Given the description of an element on the screen output the (x, y) to click on. 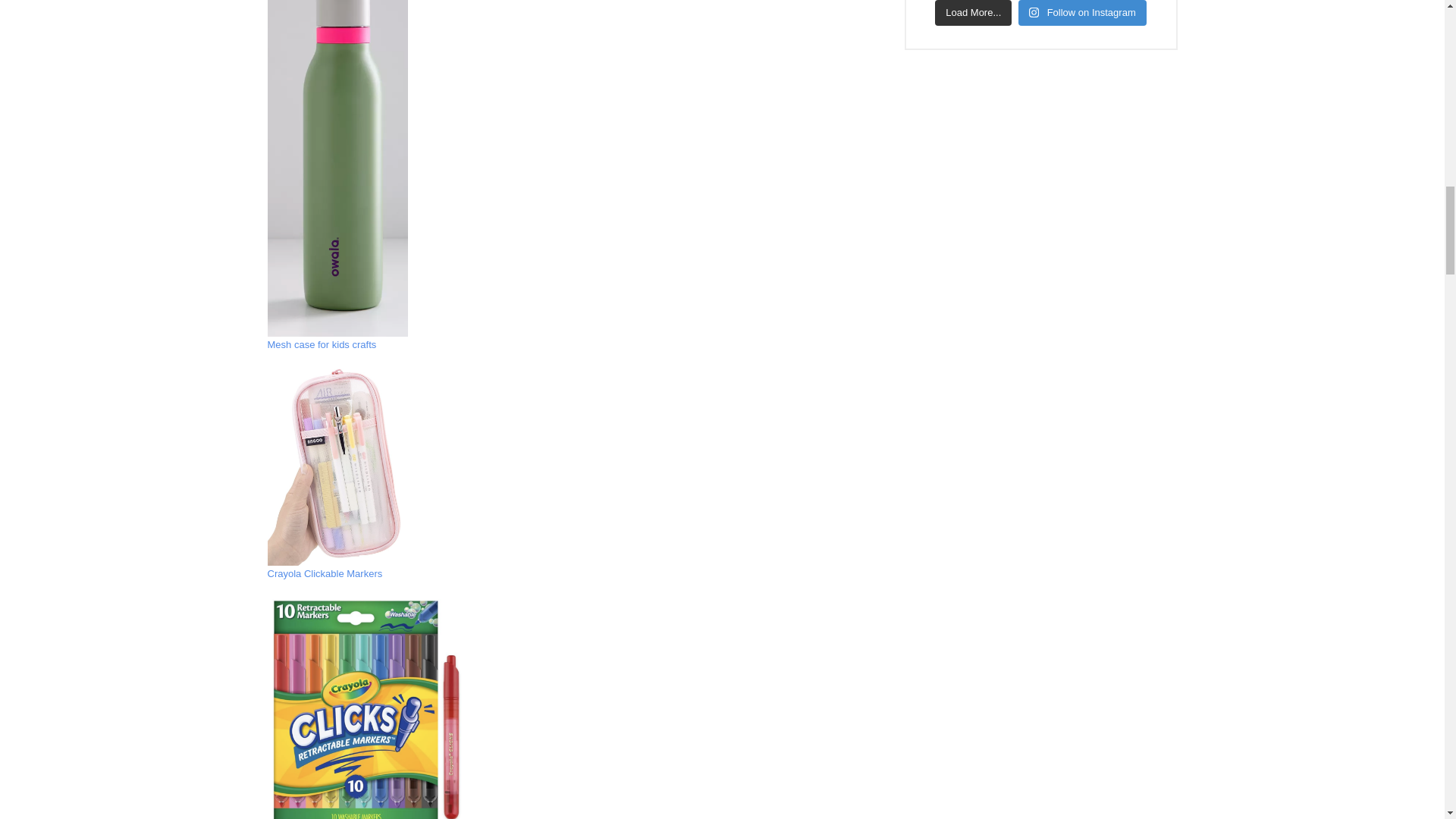
Crayola Clickable Markers (323, 573)
Mesh case for kids crafts (320, 344)
